Given the description of an element on the screen output the (x, y) to click on. 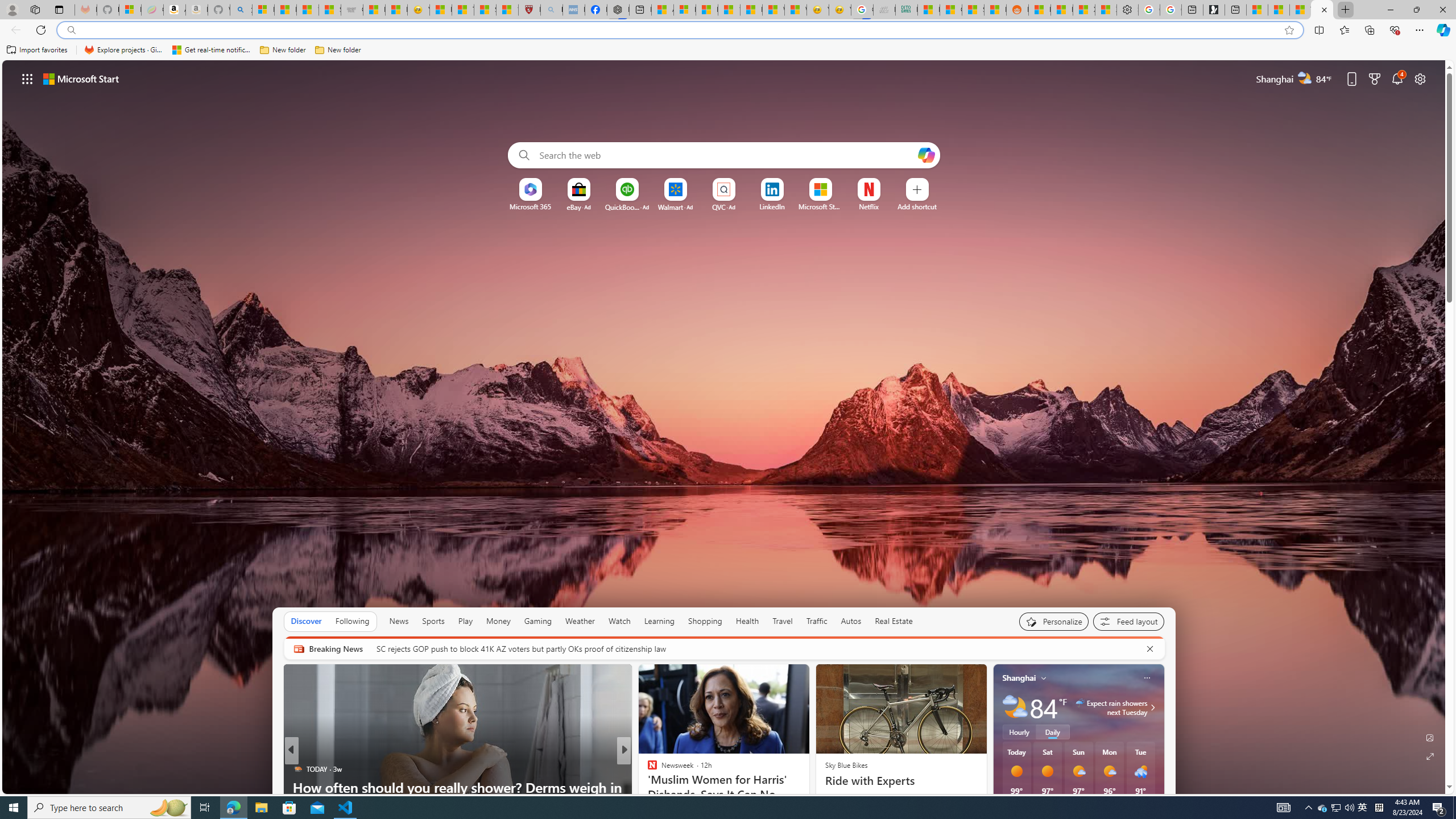
Rain showers (1140, 771)
INSIDER (647, 768)
Page settings (1420, 78)
The Takeout (647, 768)
Newsweek (647, 768)
App launcher (27, 78)
Notifications (1397, 78)
